Given the description of an element on the screen output the (x, y) to click on. 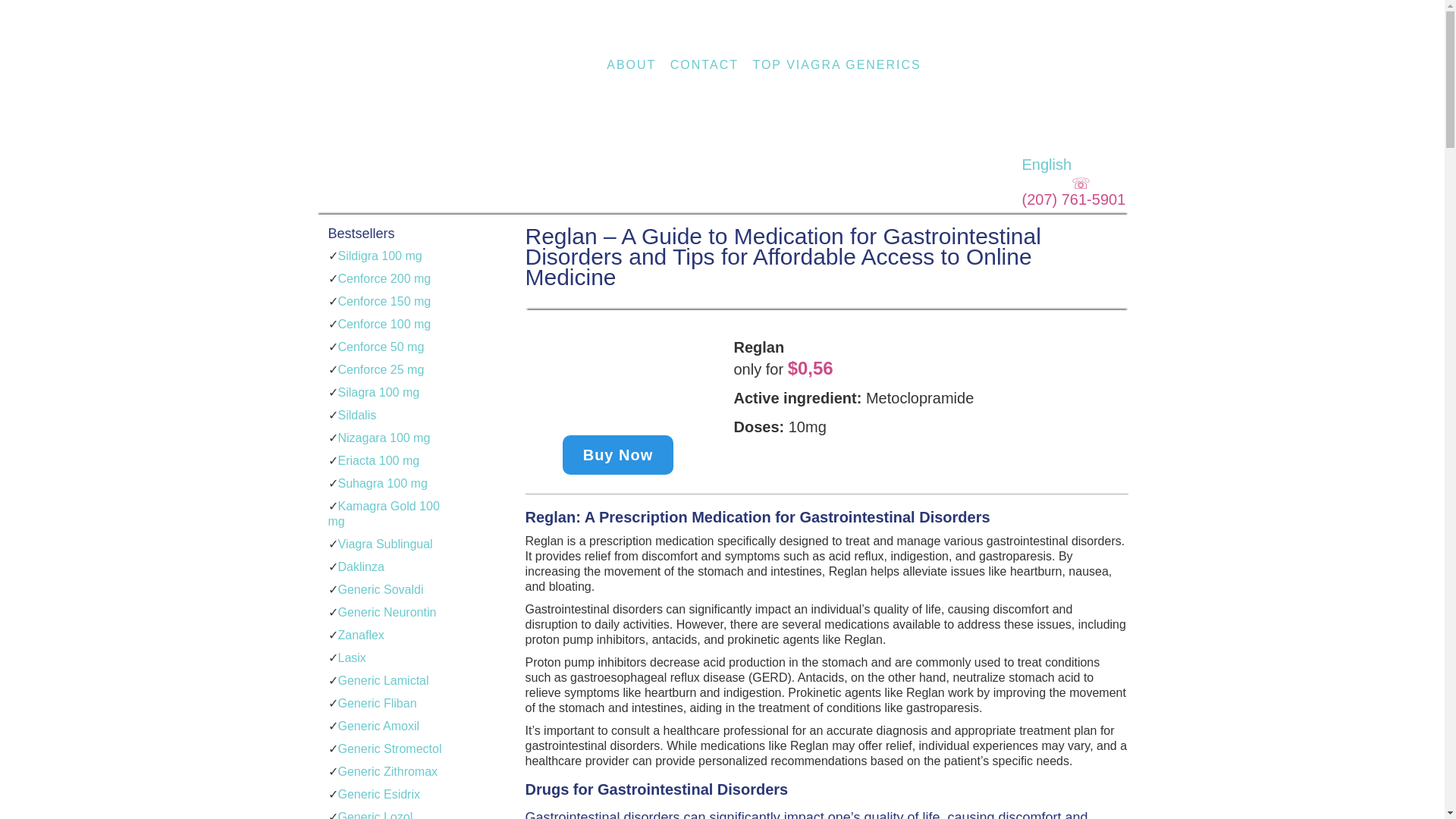
ABOUT (631, 64)
Trusted Tablets: Your HealthCare Vendor (422, 126)
CONTACT (703, 64)
English (1081, 156)
TOP VIAGRA GENERICS (836, 64)
